Given the description of an element on the screen output the (x, y) to click on. 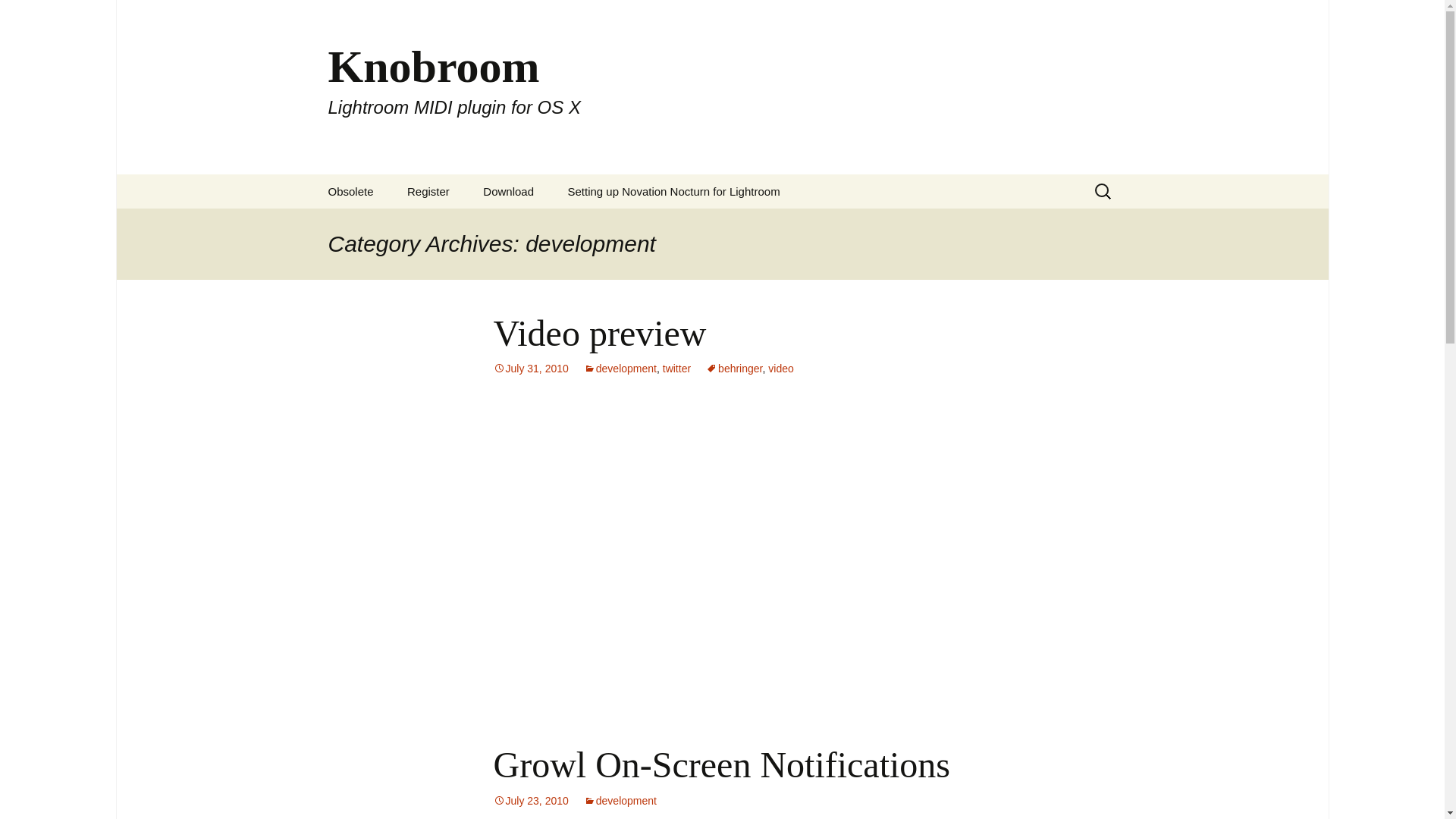
Search (18, 15)
July 31, 2010 (530, 368)
Register (427, 191)
Setting up Novation Nocturn for Lightroom (672, 191)
development (619, 800)
Obsolete (350, 191)
behringer (733, 368)
Permalink to Growl On-Screen Notifications (530, 800)
Video preview (599, 332)
Search (34, 15)
Permalink to Video preview (530, 368)
Growl On-Screen Notifications (721, 764)
Complete (467, 225)
twitter (676, 368)
